Given the description of an element on the screen output the (x, y) to click on. 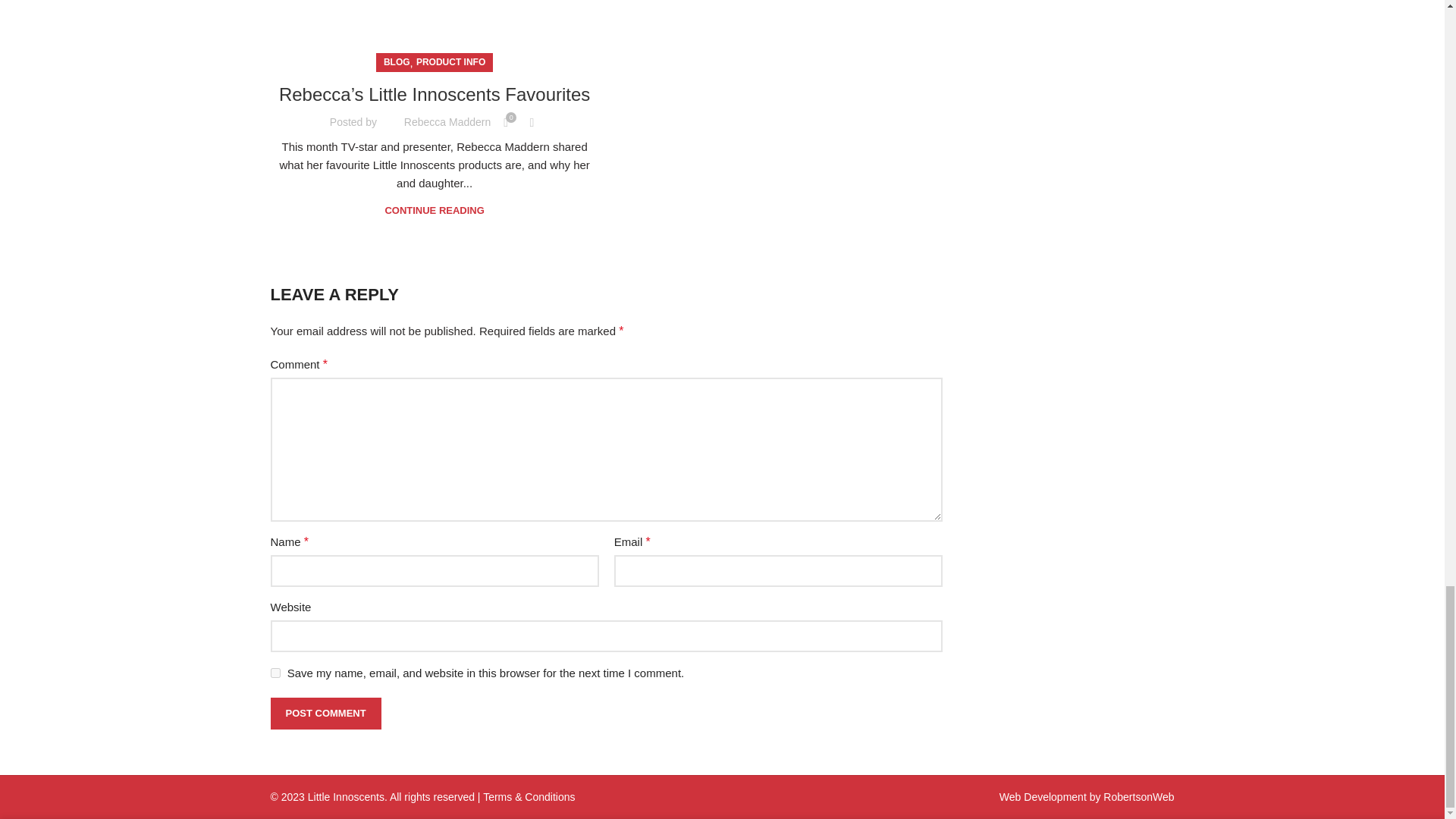
RobertsonWeb (1138, 797)
Web Development (1042, 797)
PRODUCT INFO (450, 62)
Post Comment (324, 713)
0 (505, 122)
BLOG (397, 62)
yes (274, 673)
Rebecca Maddern (447, 121)
